Given the description of an element on the screen output the (x, y) to click on. 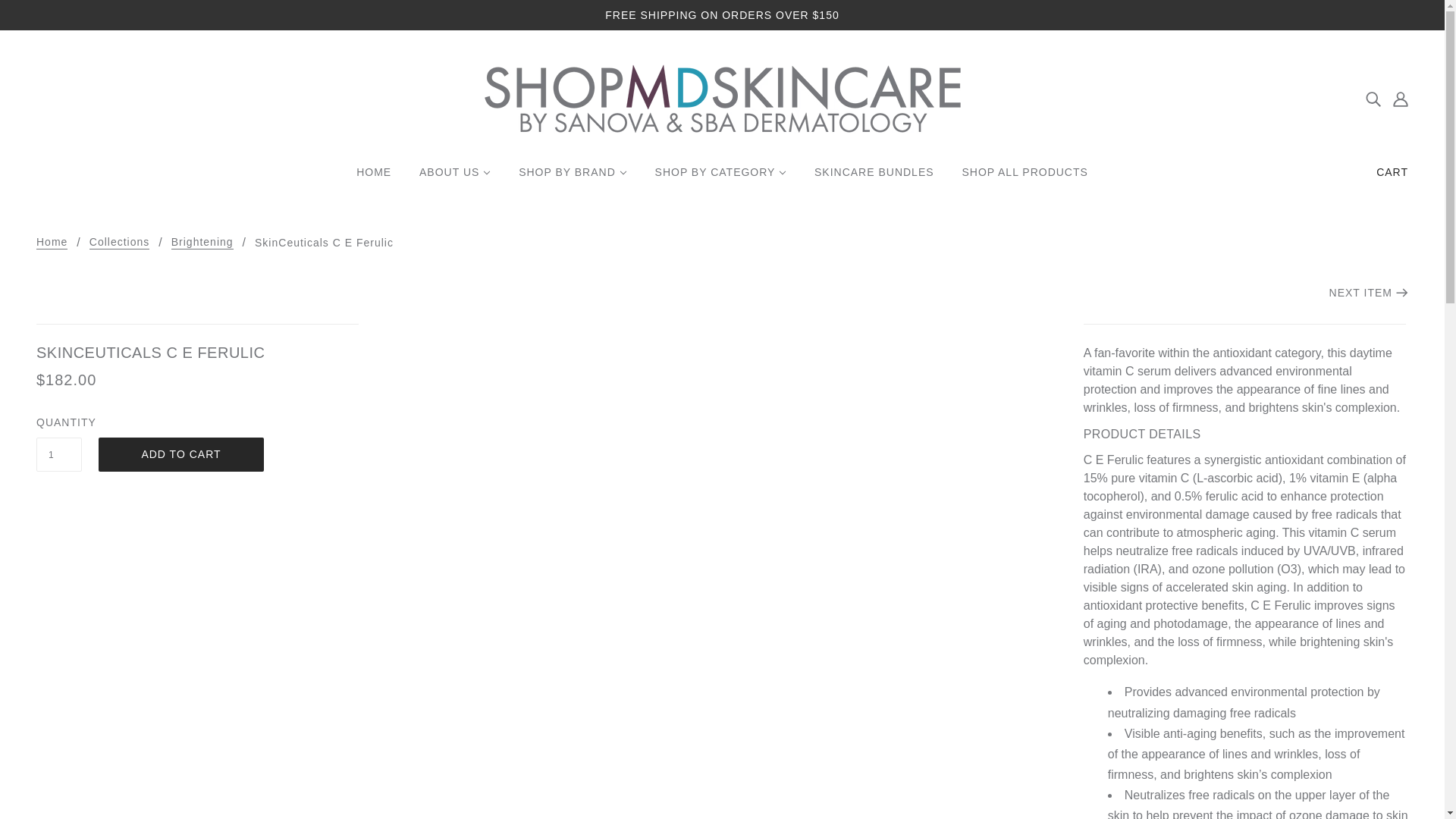
ShopMDSkincare.com (720, 97)
1 (58, 454)
SkinCeuticals Phloretin CF (1368, 292)
